Given the description of an element on the screen output the (x, y) to click on. 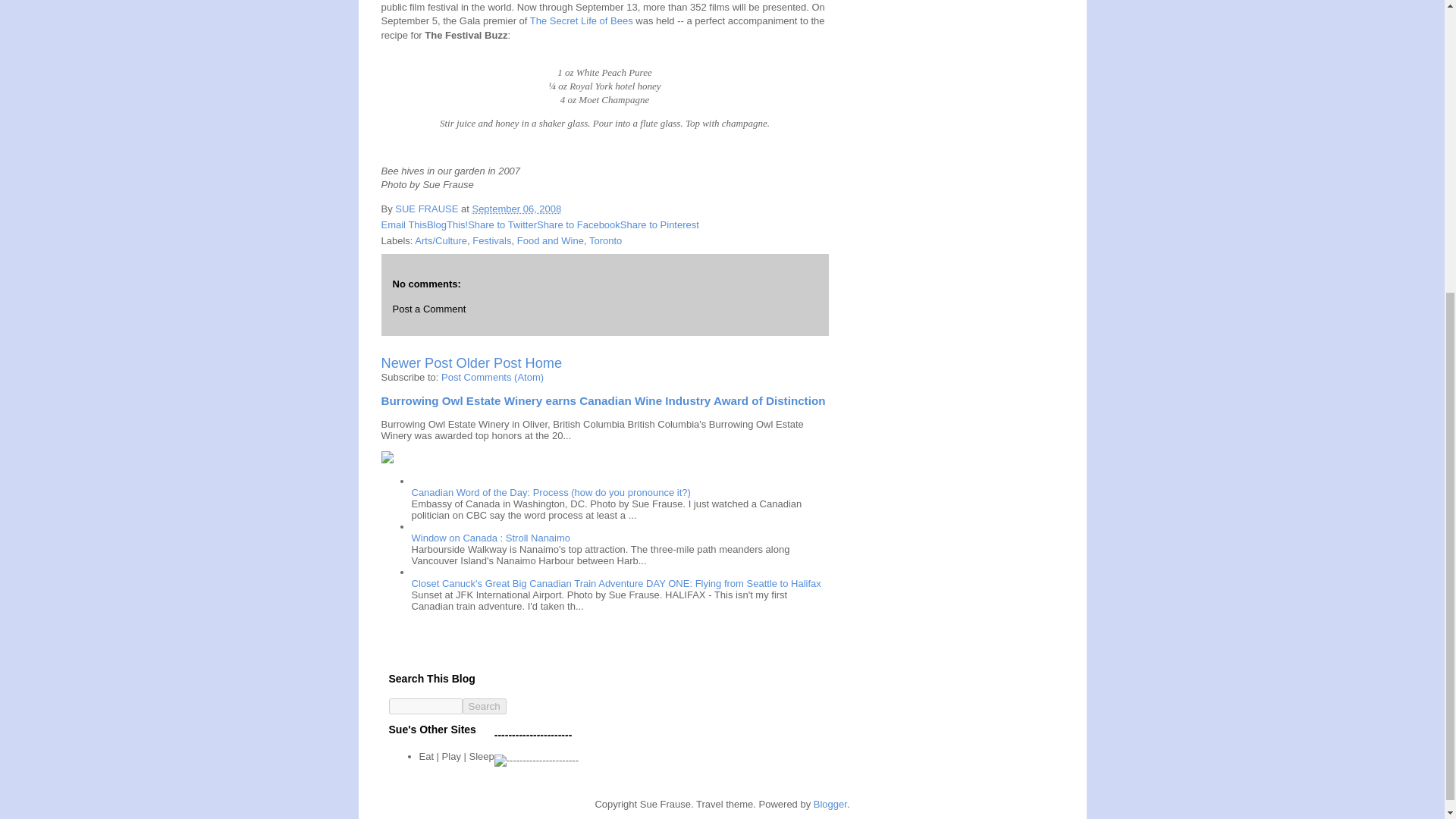
SUE FRAUSE (427, 208)
Window on Canada : Stroll Nanaimo (490, 537)
Share to Facebook (578, 224)
The Secret Life of Bees (581, 20)
Toronto (605, 240)
Older Post (489, 363)
Share to Pinterest (659, 224)
BlogThis! (446, 224)
search (424, 706)
permanent link (515, 208)
Newer Post (415, 363)
Share to Pinterest (659, 224)
Email Post (571, 208)
Email This (403, 224)
Older Post (489, 363)
